Given the description of an element on the screen output the (x, y) to click on. 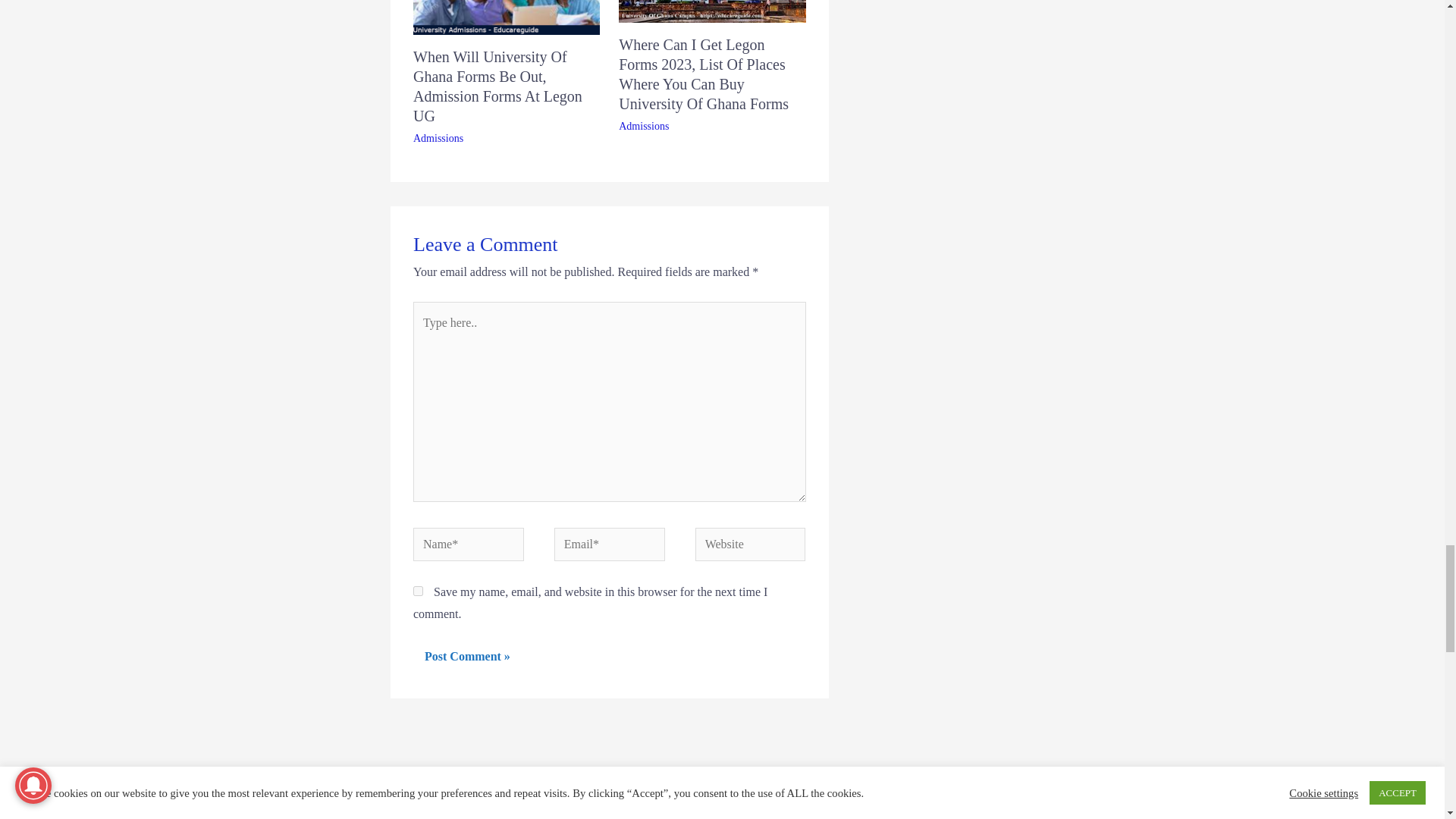
yes (418, 591)
